Given the description of an element on the screen output the (x, y) to click on. 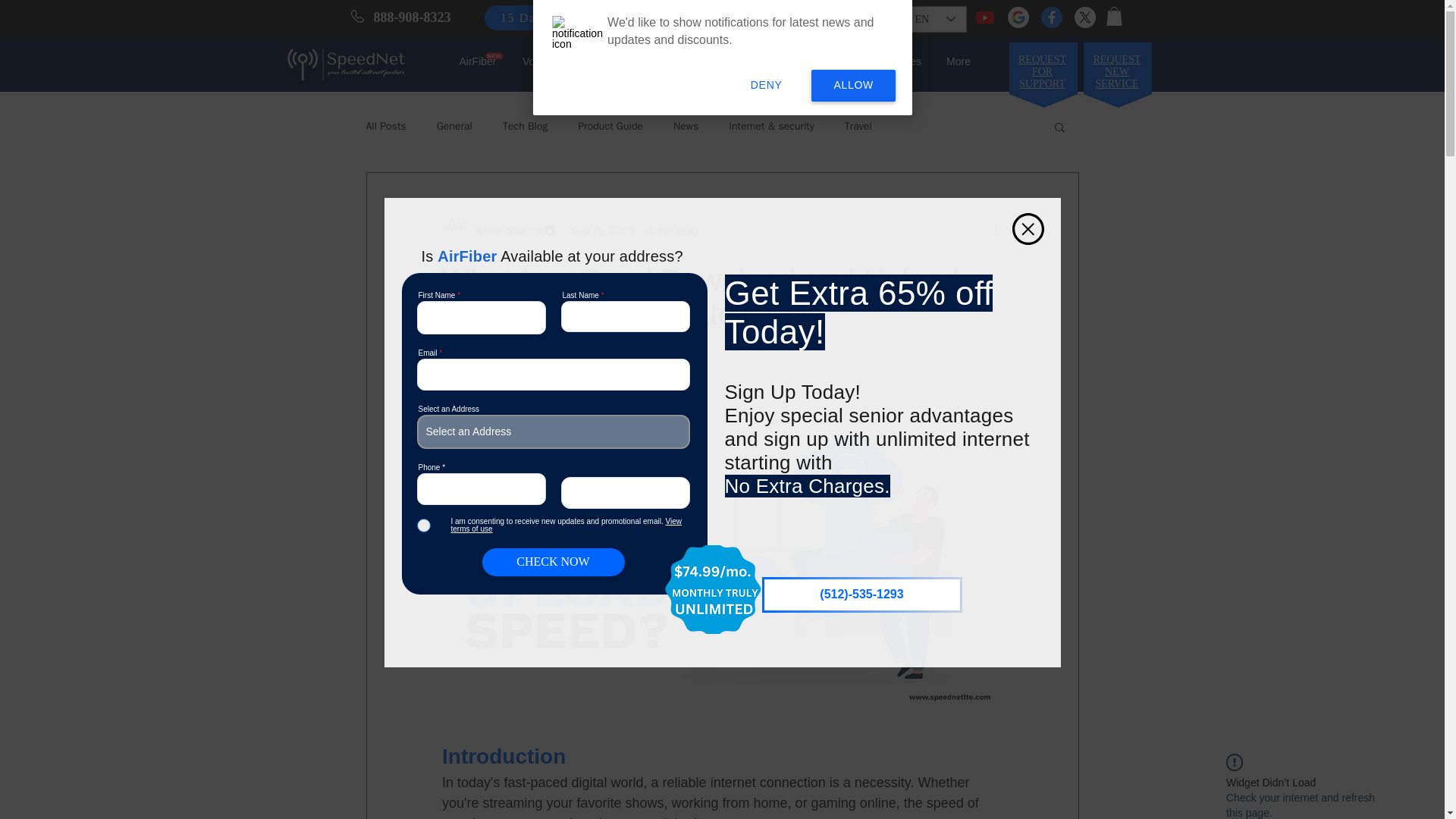
15 Days Money back Guarantee (596, 17)
Sep 29, 2023 (601, 230)
Resources (896, 61)
Product Guide (610, 126)
FAQ (644, 61)
May 7 (501, 349)
Back to site (1027, 228)
888-908-8323 (410, 17)
AirFiber (476, 61)
Business (590, 61)
All Posts (385, 126)
Arnim Sharma (498, 230)
REQUEST NEW SERVICE (1117, 71)
REQUEST FOR SUPPORT (1041, 71)
Review (696, 61)
